Given the description of an element on the screen output the (x, y) to click on. 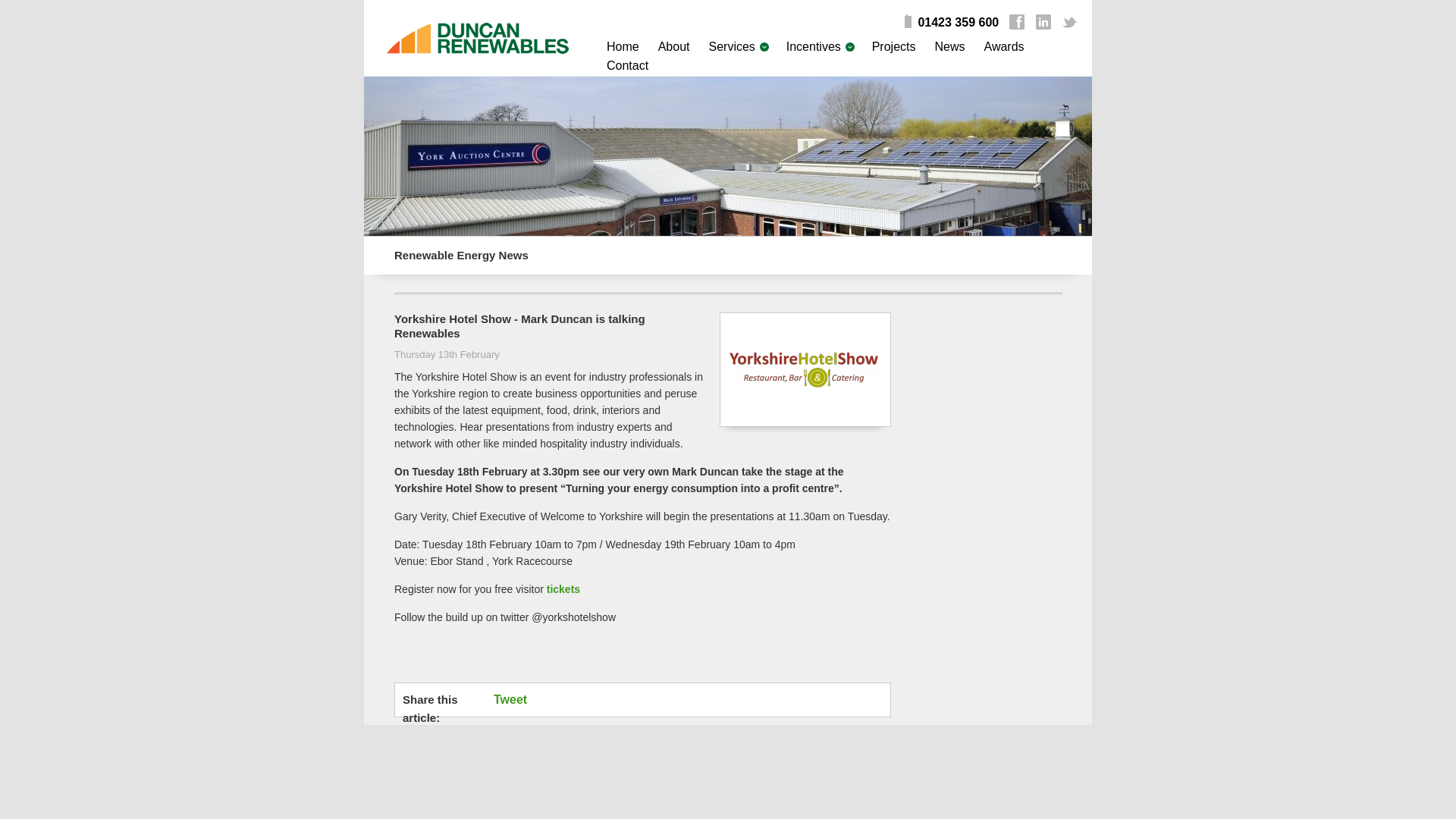
Projects (893, 46)
tickets (563, 589)
Incentives (813, 46)
Home (623, 46)
Contact (627, 65)
Tweet (518, 699)
About (674, 46)
Services (730, 46)
News (948, 46)
Awards (1004, 46)
